Given the description of an element on the screen output the (x, y) to click on. 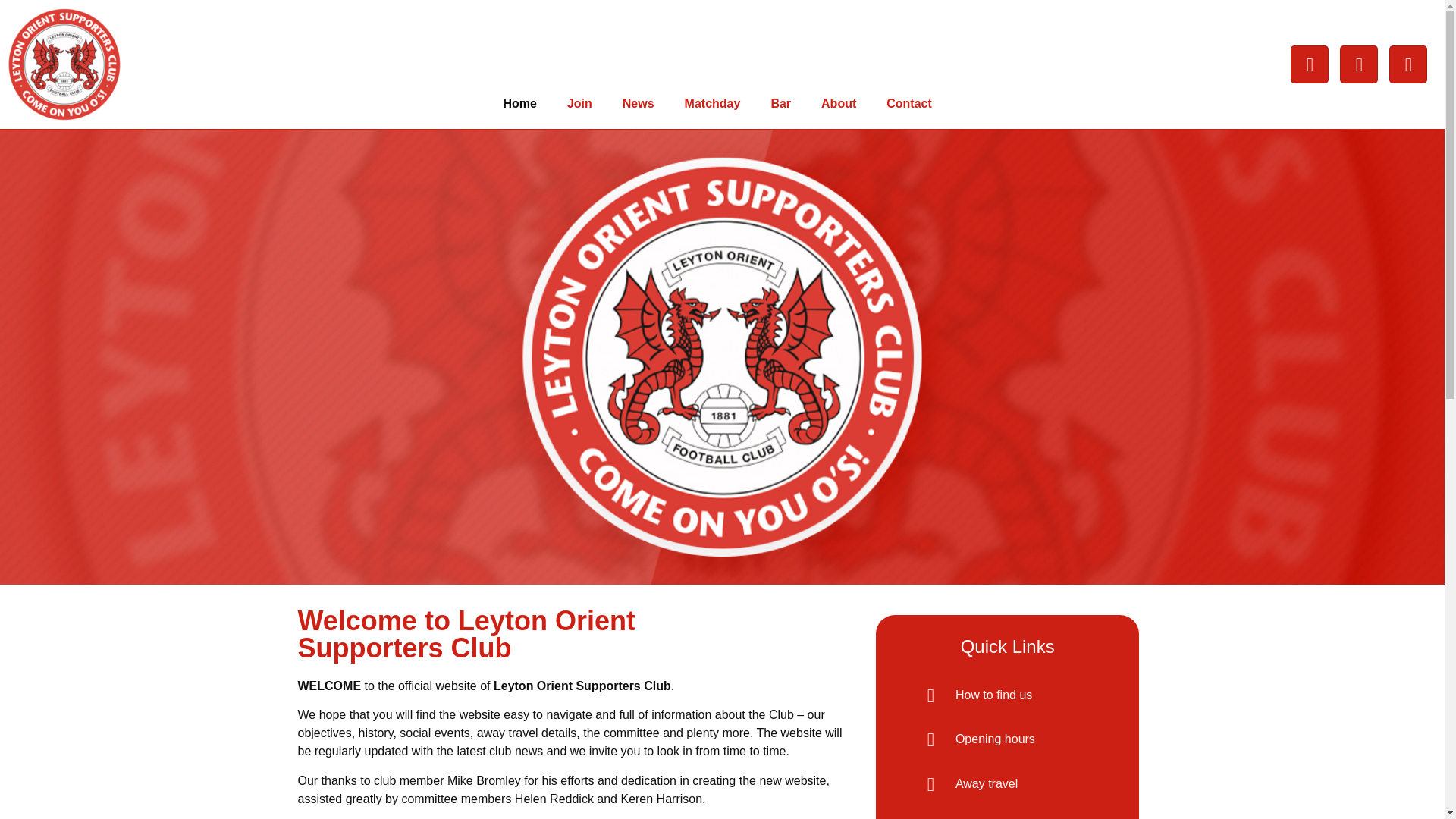
Join (579, 103)
Matchday (712, 103)
Home (519, 103)
About (838, 103)
Contact (908, 103)
News (638, 103)
Bar (780, 103)
